Given the description of an element on the screen output the (x, y) to click on. 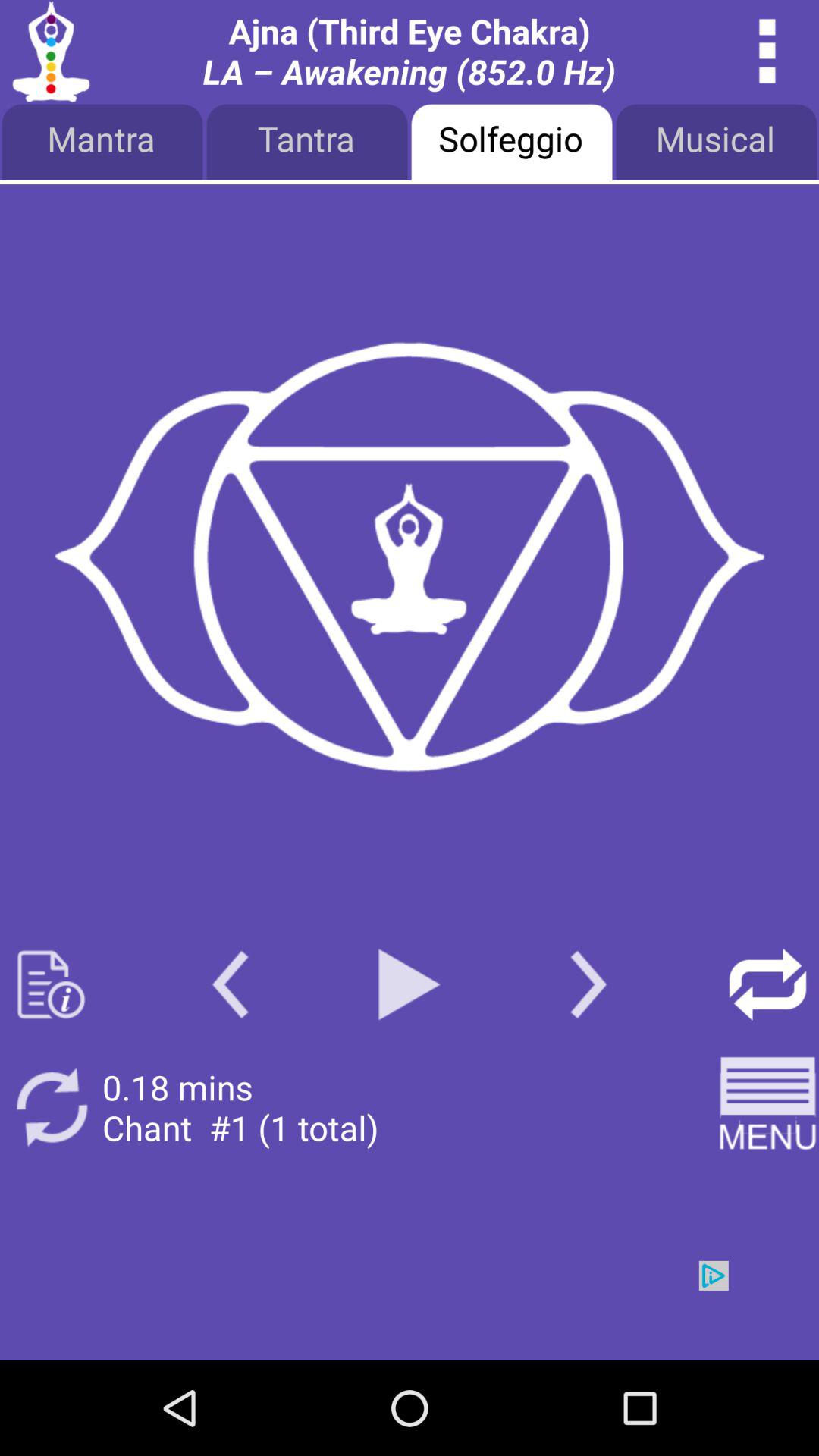
menu button (767, 51)
